Given the description of an element on the screen output the (x, y) to click on. 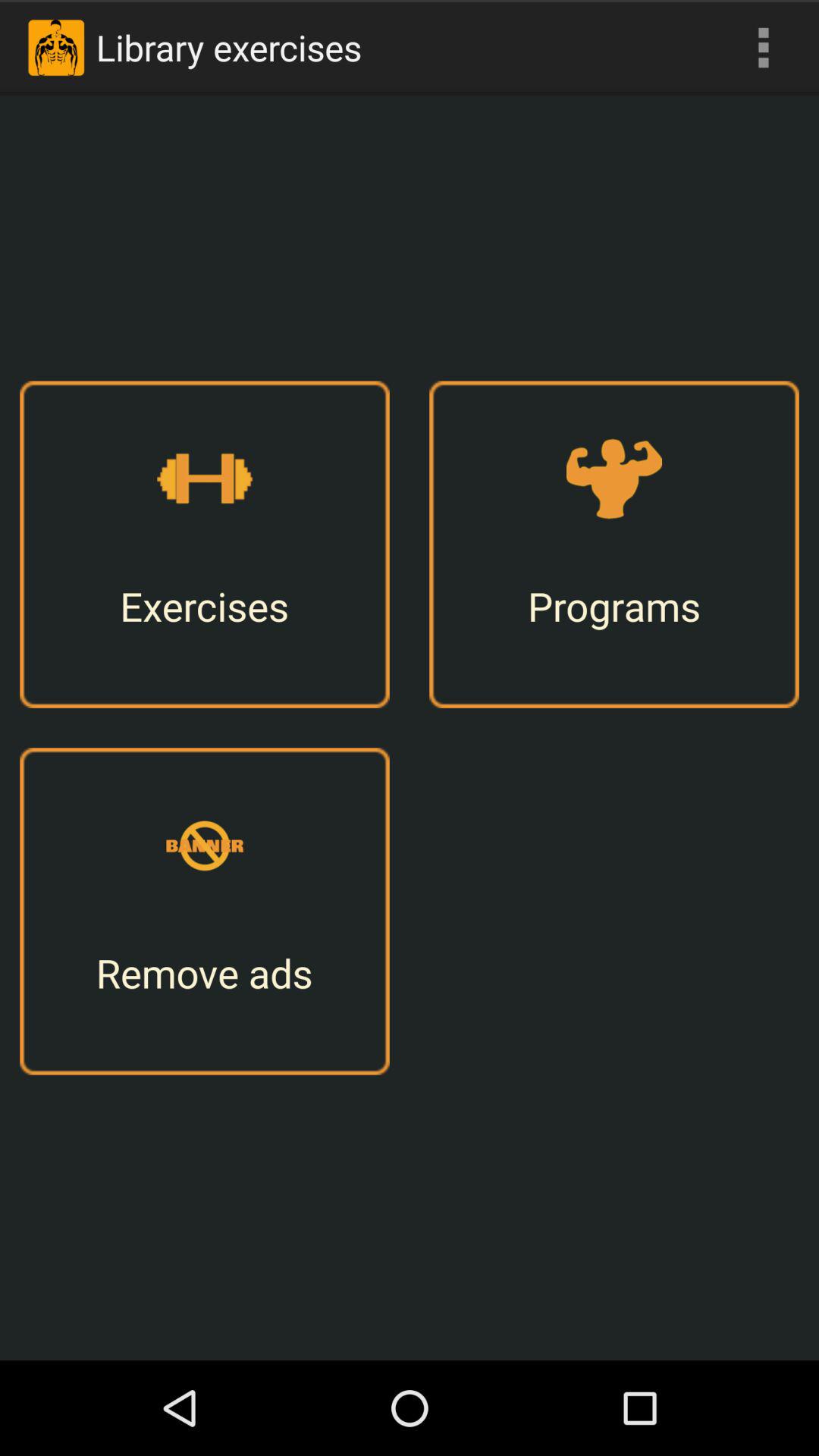
turn on the icon to the right of the library exercises app (763, 47)
